Given the description of an element on the screen output the (x, y) to click on. 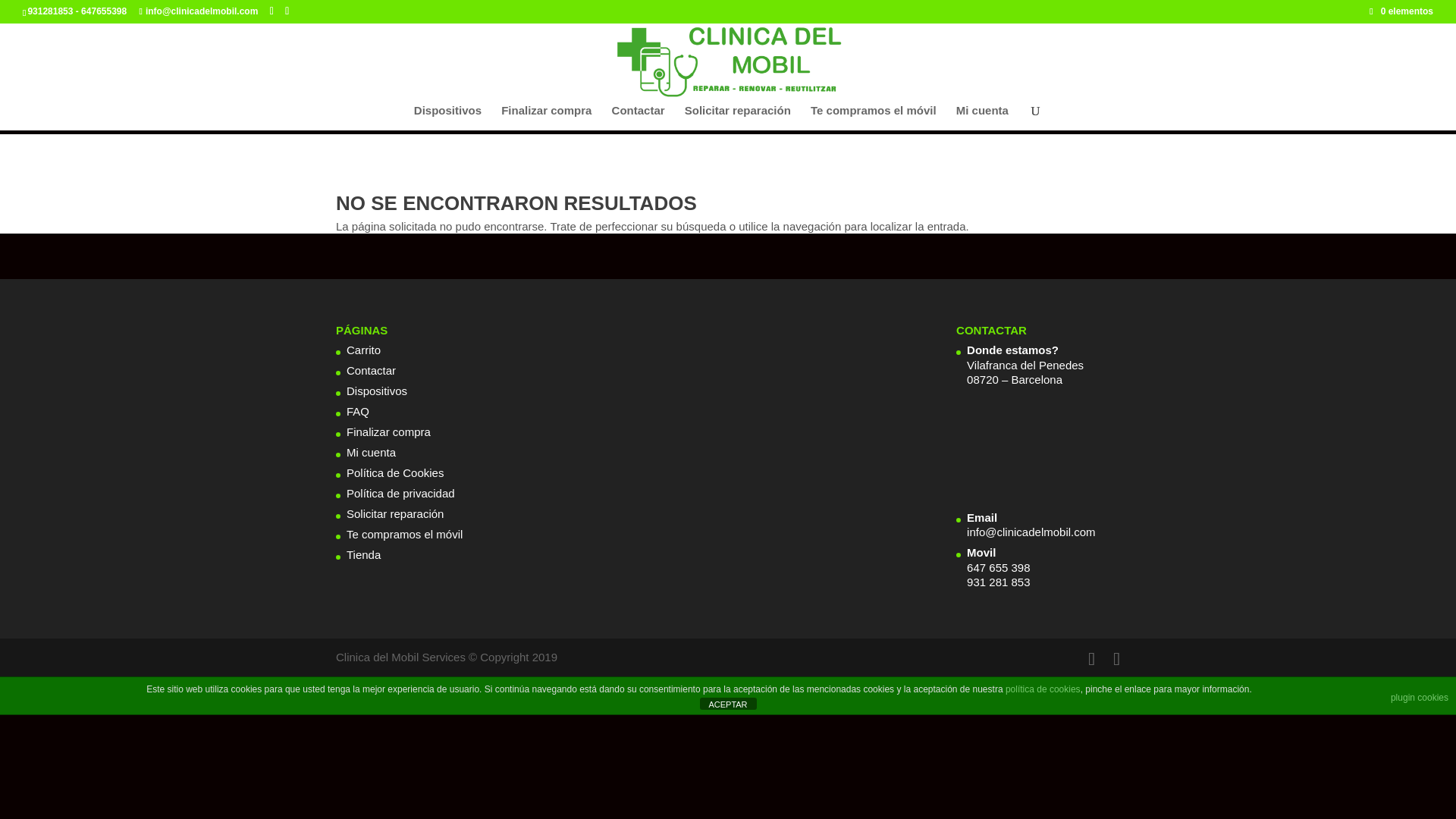
Dispositivos (447, 117)
Mi cuenta (371, 451)
Dispositivos (376, 390)
Contactar (371, 369)
Finalizar compra (388, 431)
FAQ (357, 410)
0 elementos (1401, 10)
Finalizar compra (545, 117)
Contactar (638, 117)
Carrito (363, 349)
